Given the description of an element on the screen output the (x, y) to click on. 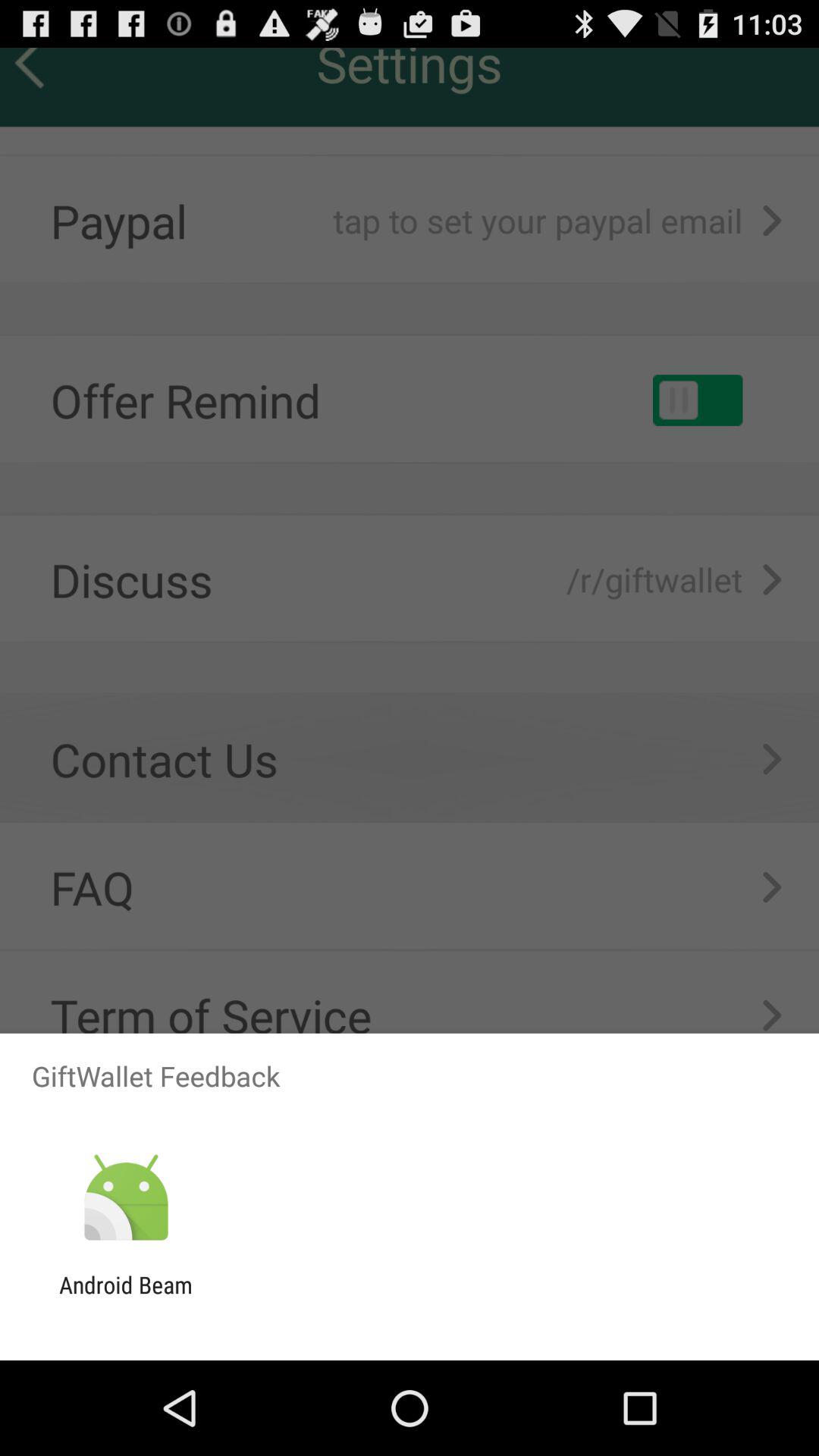
jump to the android beam item (125, 1298)
